Given the description of an element on the screen output the (x, y) to click on. 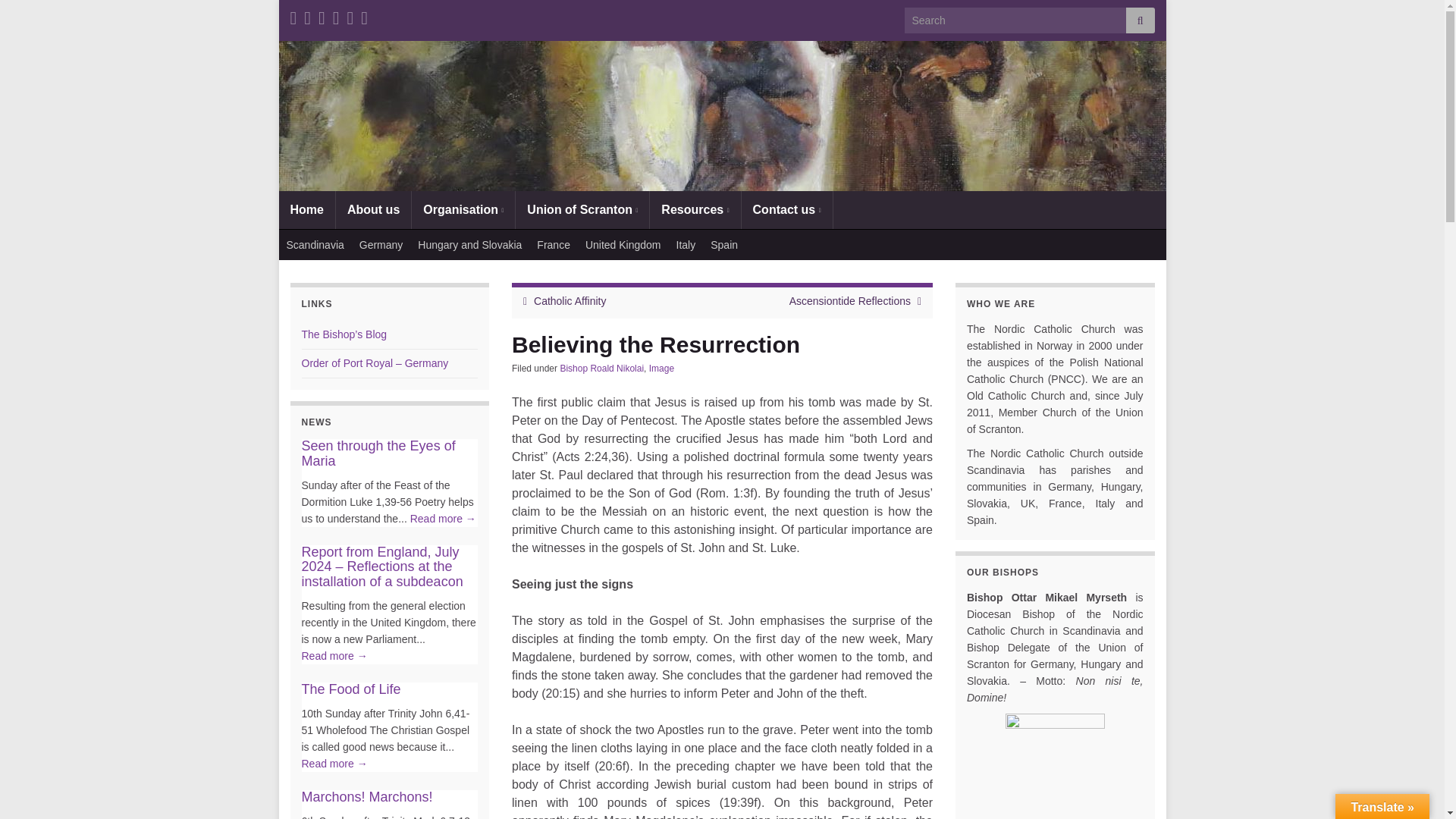
Hungary and Slovakia (469, 245)
Organisation (463, 209)
United Kingdom (623, 245)
Resources (694, 209)
Union of Scranton (582, 209)
Germany (381, 245)
Italy (685, 245)
Home (306, 209)
Scandinavia (315, 245)
About us (373, 209)
